Given the description of an element on the screen output the (x, y) to click on. 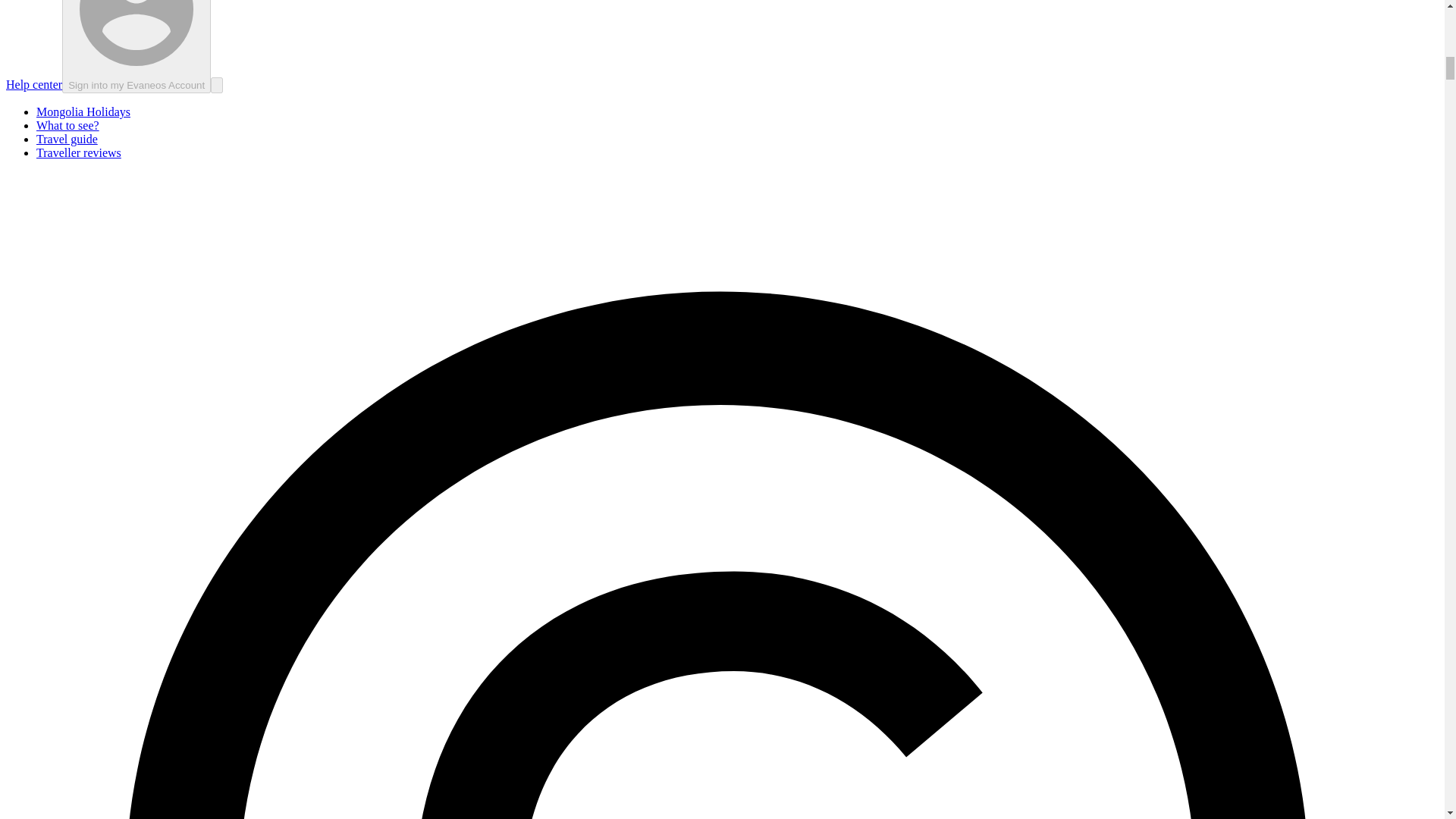
Mongolia Holidays (83, 111)
Help center (33, 83)
Sign into my Evaneos Account (136, 46)
Travel guide (66, 138)
What to see? (67, 124)
Traveller reviews (78, 152)
